Given the description of an element on the screen output the (x, y) to click on. 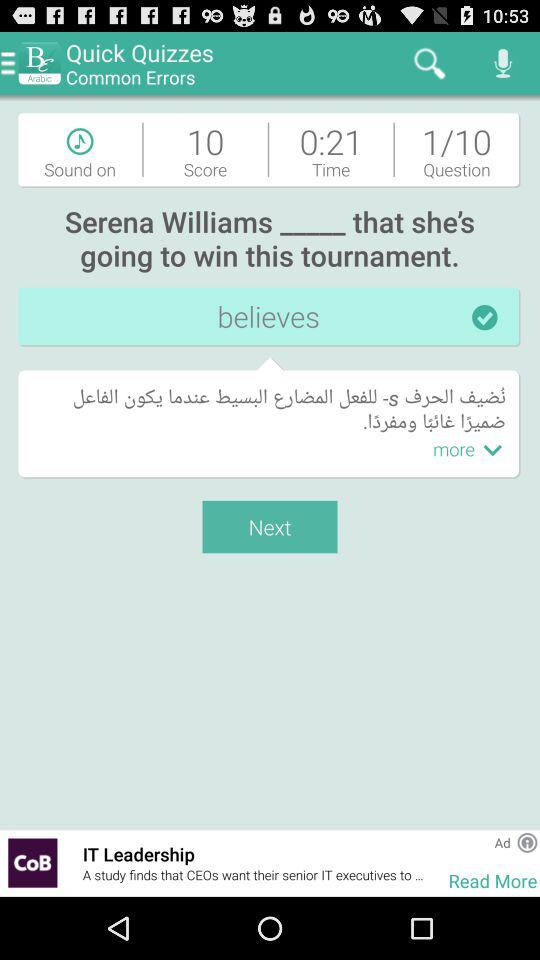
open the item next to it leadership item (436, 862)
